Given the description of an element on the screen output the (x, y) to click on. 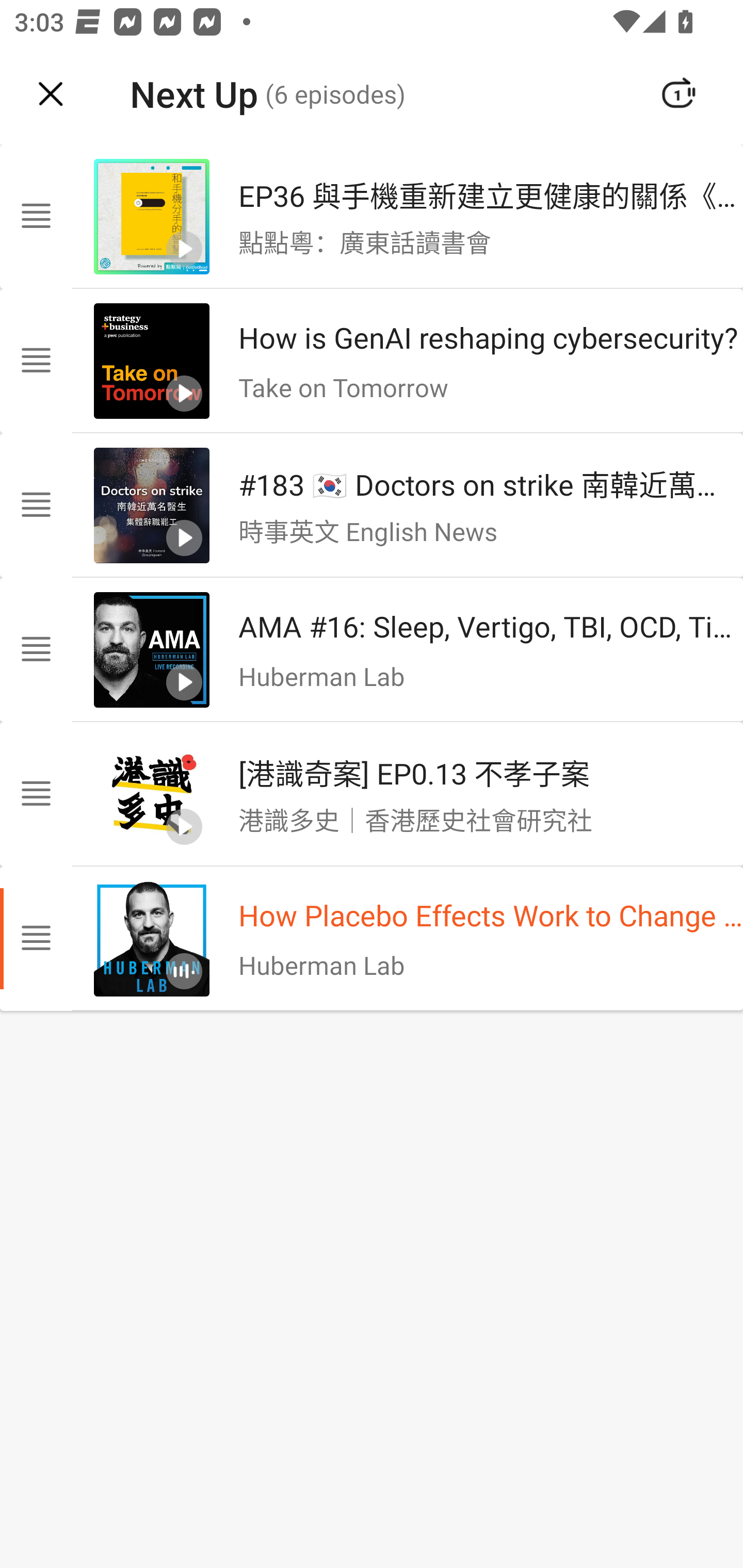
Navigate up (50, 93)
